Given the description of an element on the screen output the (x, y) to click on. 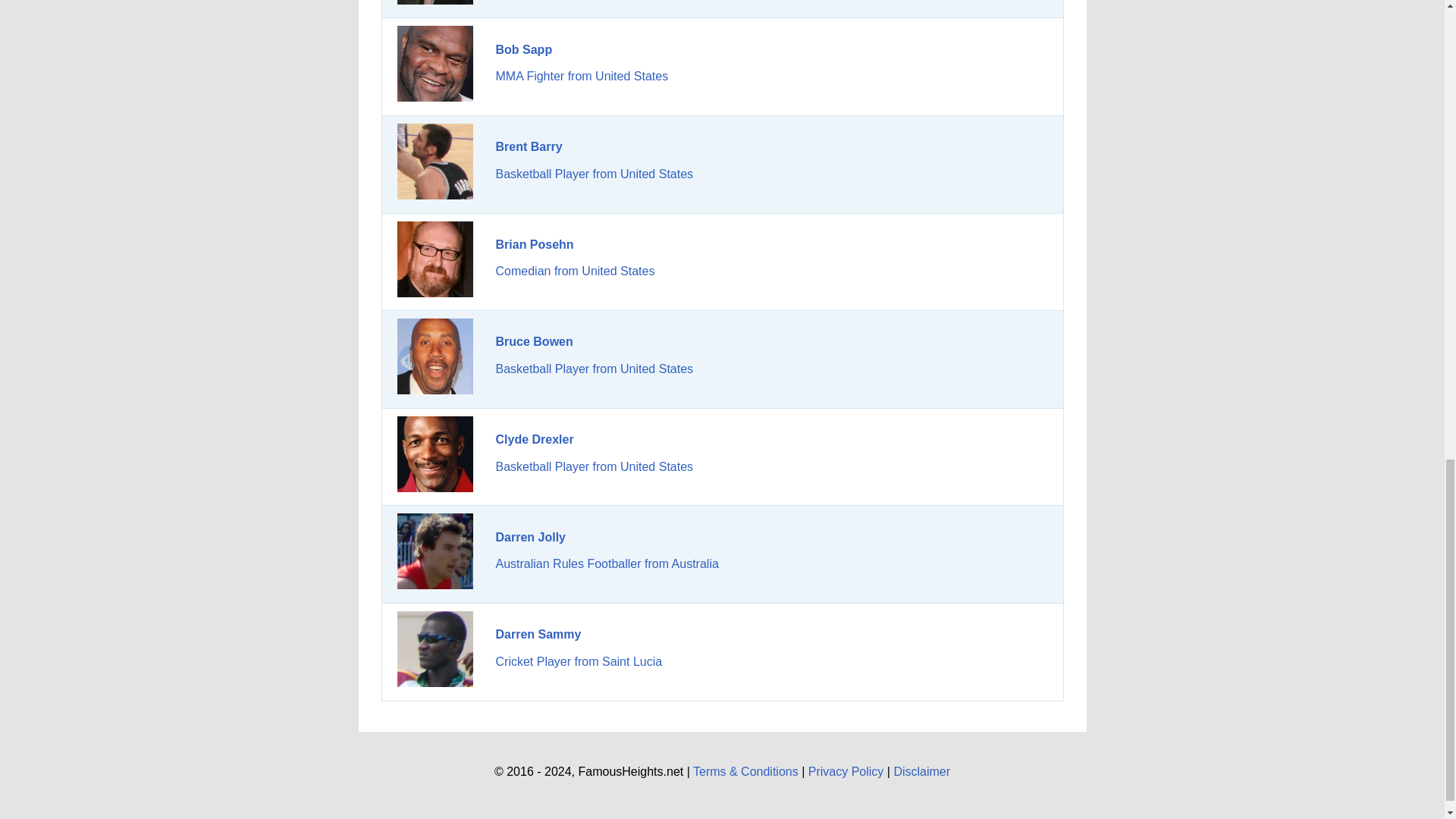
Darren Jolly (531, 536)
Darren Sammy (538, 634)
Darren Sammy (435, 648)
Comedian from United States (575, 270)
Privacy Policy (845, 771)
Brian Posehn (534, 244)
Darren Jolly (435, 550)
Brian Posehn (435, 259)
Andrew Gaze (435, 2)
Cricket Player from Saint Lucia (579, 661)
Basketball Player from United States (595, 173)
Clyde Drexler (534, 439)
Bob Sapp (524, 49)
Basketball Player from United States (595, 466)
MMA Fighter from United States (582, 75)
